Given the description of an element on the screen output the (x, y) to click on. 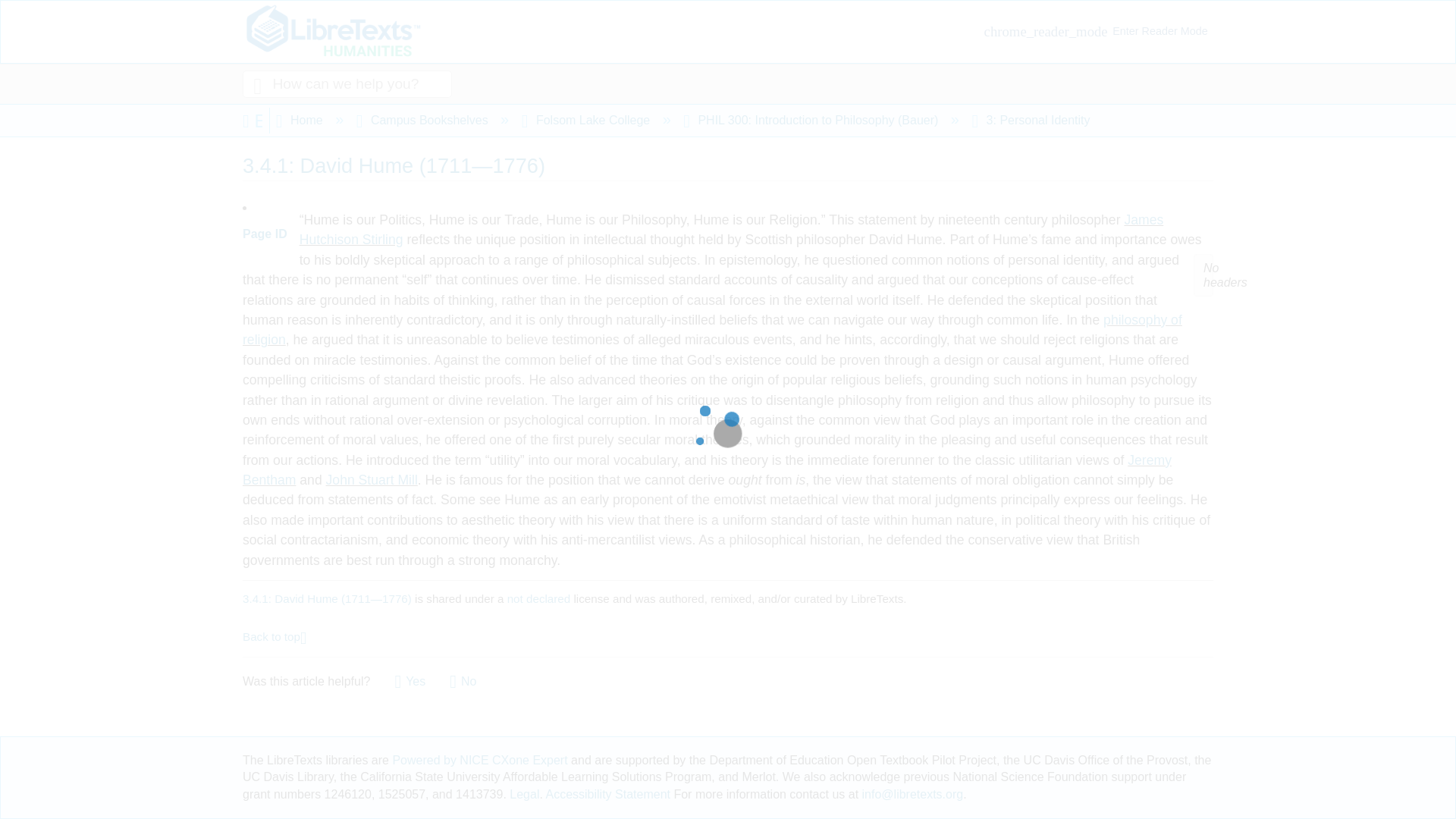
Jump back to top of this article (274, 635)
